Given the description of an element on the screen output the (x, y) to click on. 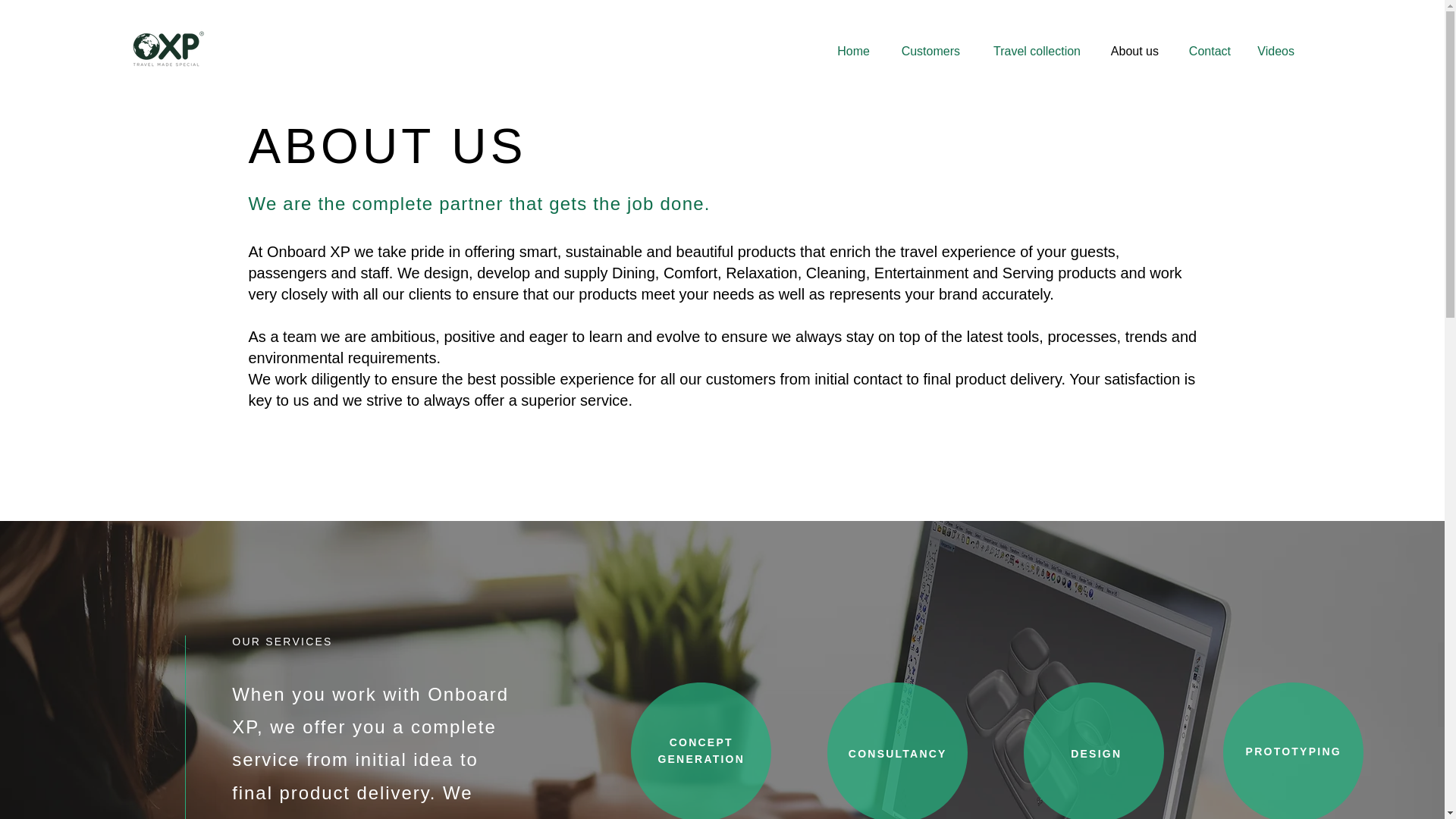
Contact (1205, 51)
Videos (1273, 51)
Home (850, 51)
Travel collection (1031, 51)
Customers (925, 51)
About us (1131, 51)
